Given the description of an element on the screen output the (x, y) to click on. 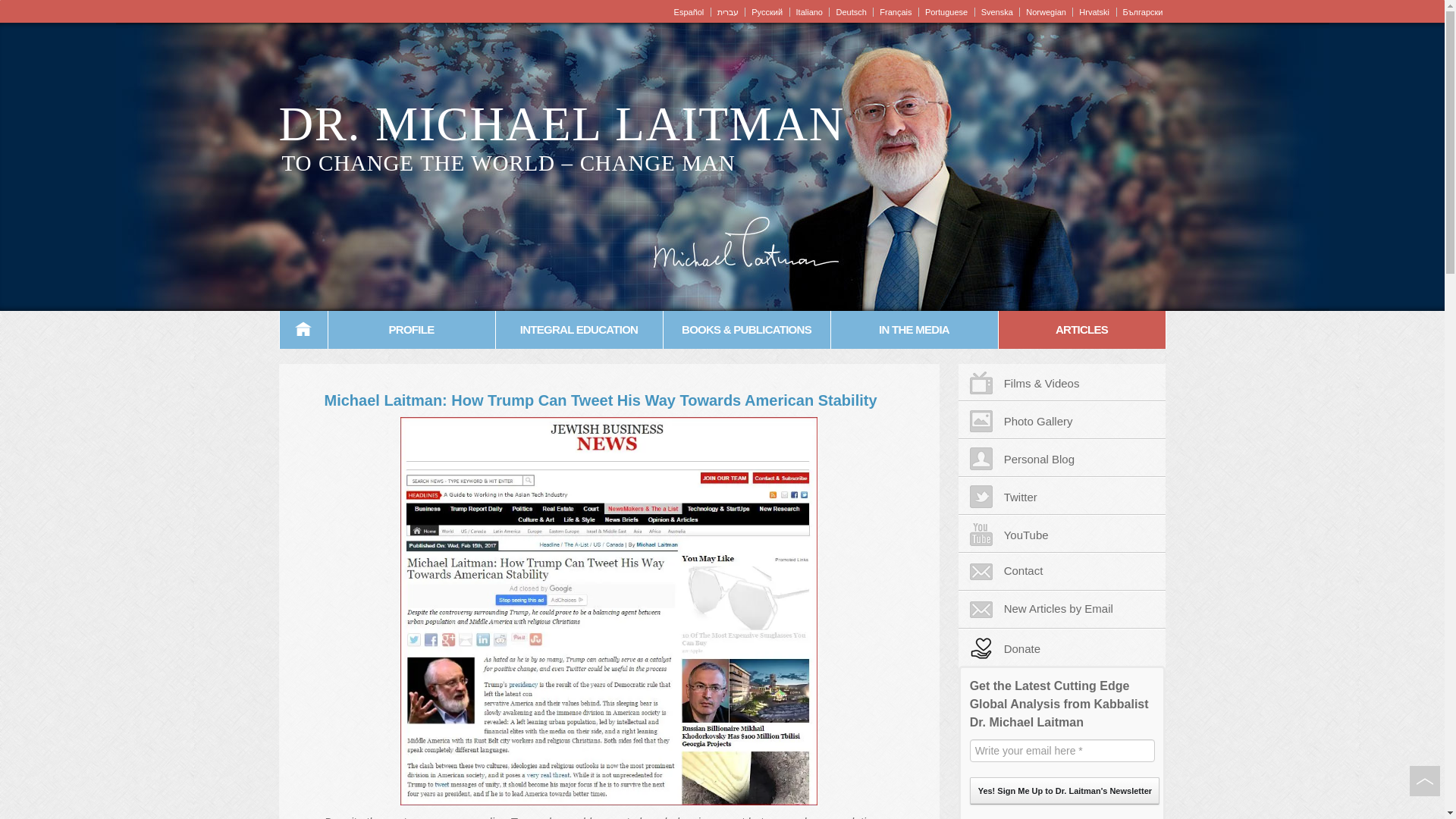
Michael Laitman's Personal Blog (1062, 457)
Dr. Michael Laitman (561, 123)
Deutsch (848, 11)
ARTICLES (1080, 329)
HOME (303, 329)
INTEGRAL EDUCATION (579, 329)
DR. MICHAEL LAITMAN (561, 123)
PROFILE (411, 329)
IN THE MEDIA (914, 329)
Svenska (995, 11)
Italiano (807, 11)
Photo Gallery (1062, 420)
Norwegian (1043, 11)
Portuguese (944, 11)
Hrvatski (1091, 11)
